Given the description of an element on the screen output the (x, y) to click on. 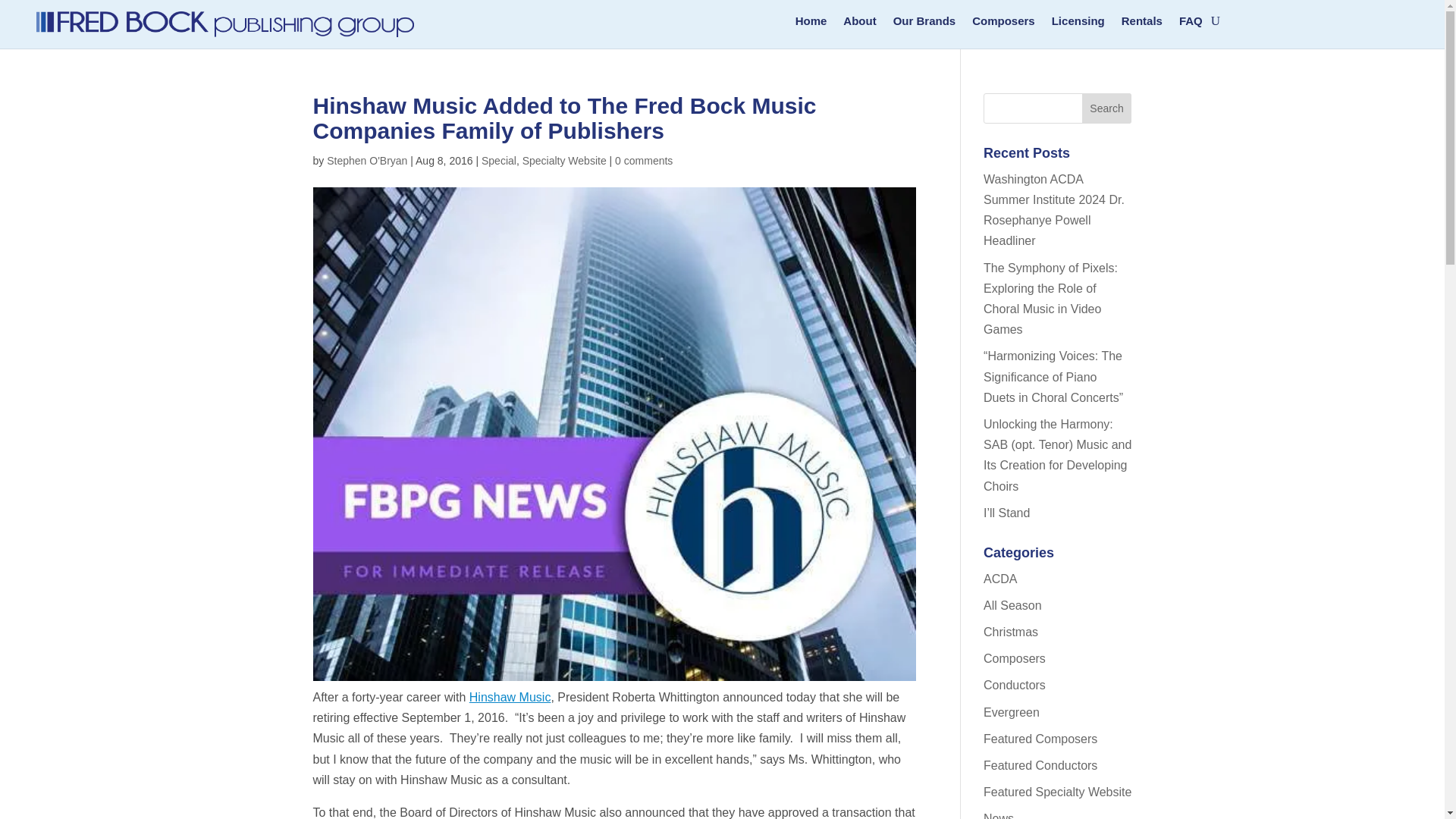
Stephen O'Bryan (366, 160)
FAQ (1190, 23)
Rentals (1141, 23)
Posts by Stephen O'Bryan (366, 160)
Our Brands (924, 23)
Hinshaw Music (509, 697)
Composers (1003, 23)
0 comments (643, 160)
Licensing (1078, 23)
Specialty Website (564, 160)
About (859, 23)
All Season (1013, 604)
Search (1106, 108)
ACDA (1000, 578)
